Given the description of an element on the screen output the (x, y) to click on. 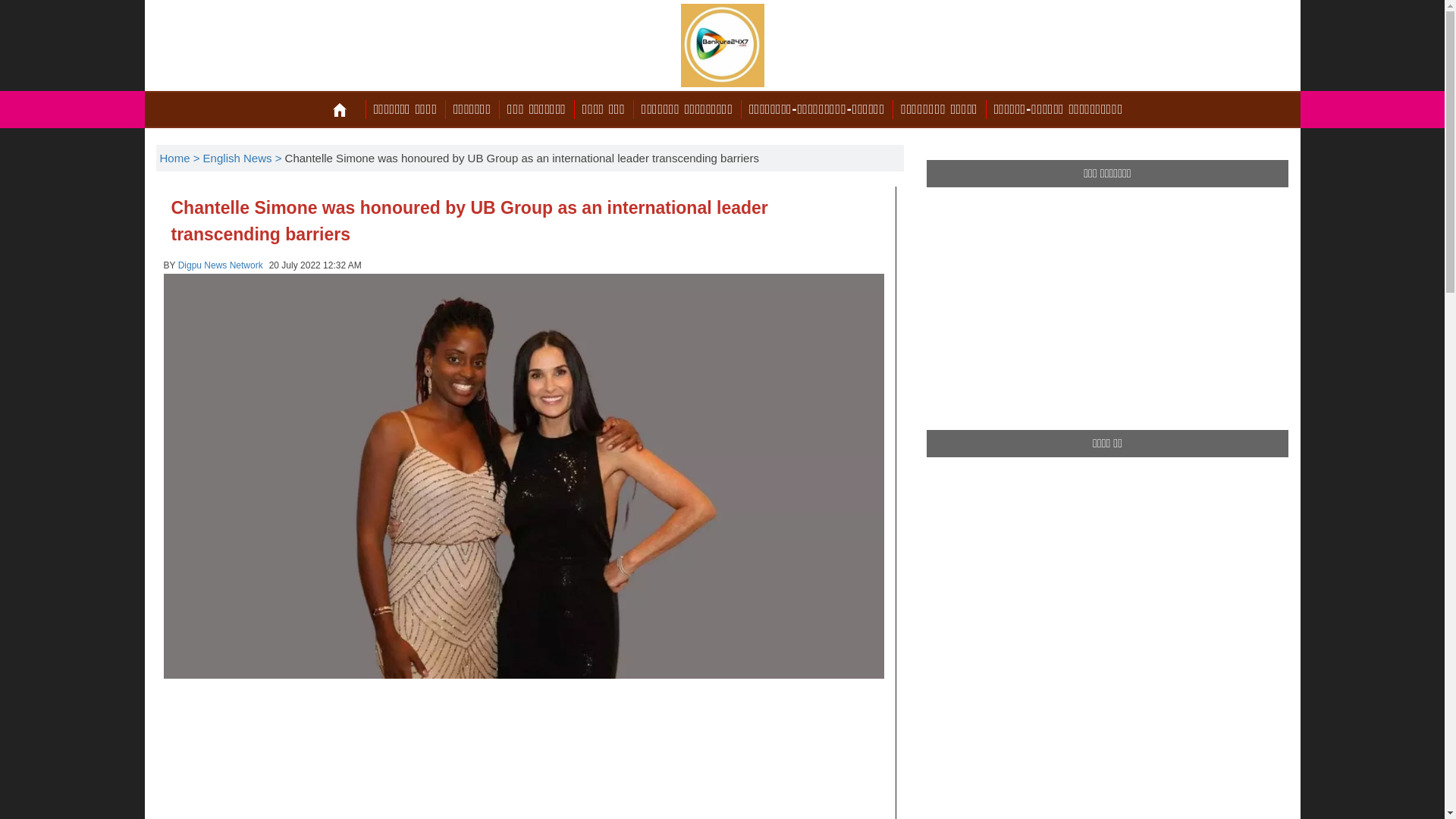
home (339, 110)
logo (722, 45)
